Given the description of an element on the screen output the (x, y) to click on. 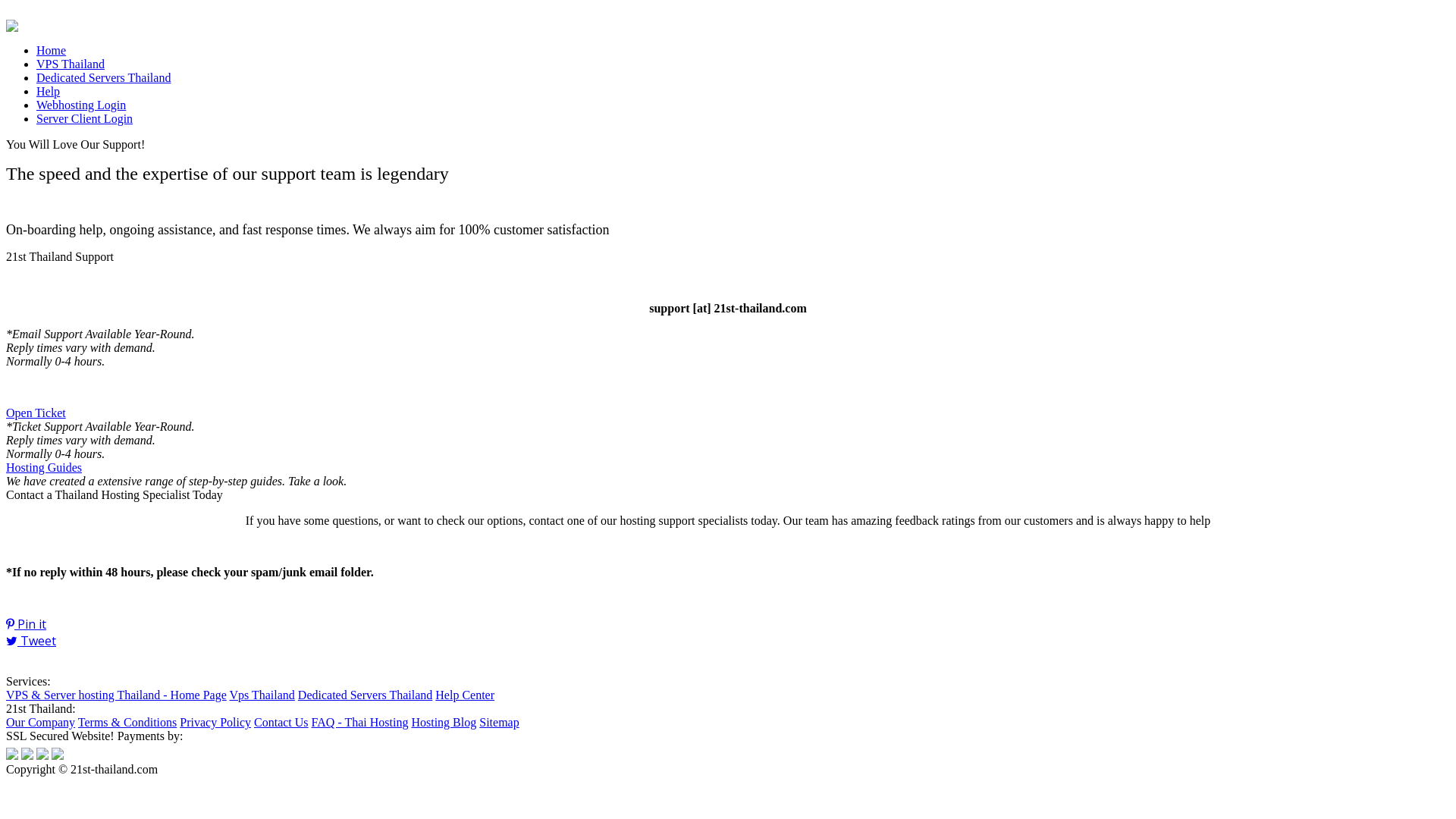
Terms & Conditions Element type: text (127, 721)
Tweet Element type: text (727, 640)
VPS & Server hosting Thailand - Home Page Element type: text (116, 694)
Sitemap Element type: text (498, 721)
Privacy Policy Element type: text (215, 721)
Server Client Login Element type: text (84, 118)
Dedicated Servers Thailand Element type: text (103, 77)
FAQ - Thai Hosting Element type: text (359, 721)
Hosting Guides Element type: text (43, 467)
Pin it Element type: text (727, 623)
Open Ticket Element type: text (35, 412)
Webhosting Login Element type: text (80, 104)
Help Element type: text (47, 90)
Help Center Element type: text (464, 694)
Vps Thailand Element type: text (261, 694)
Home Element type: text (50, 49)
Contact Us Element type: text (281, 721)
VPS Thailand Element type: text (70, 63)
Dedicated Servers Thailand Element type: text (365, 694)
Hosting Blog Element type: text (443, 721)
Our Company Element type: text (40, 721)
